Given the description of an element on the screen output the (x, y) to click on. 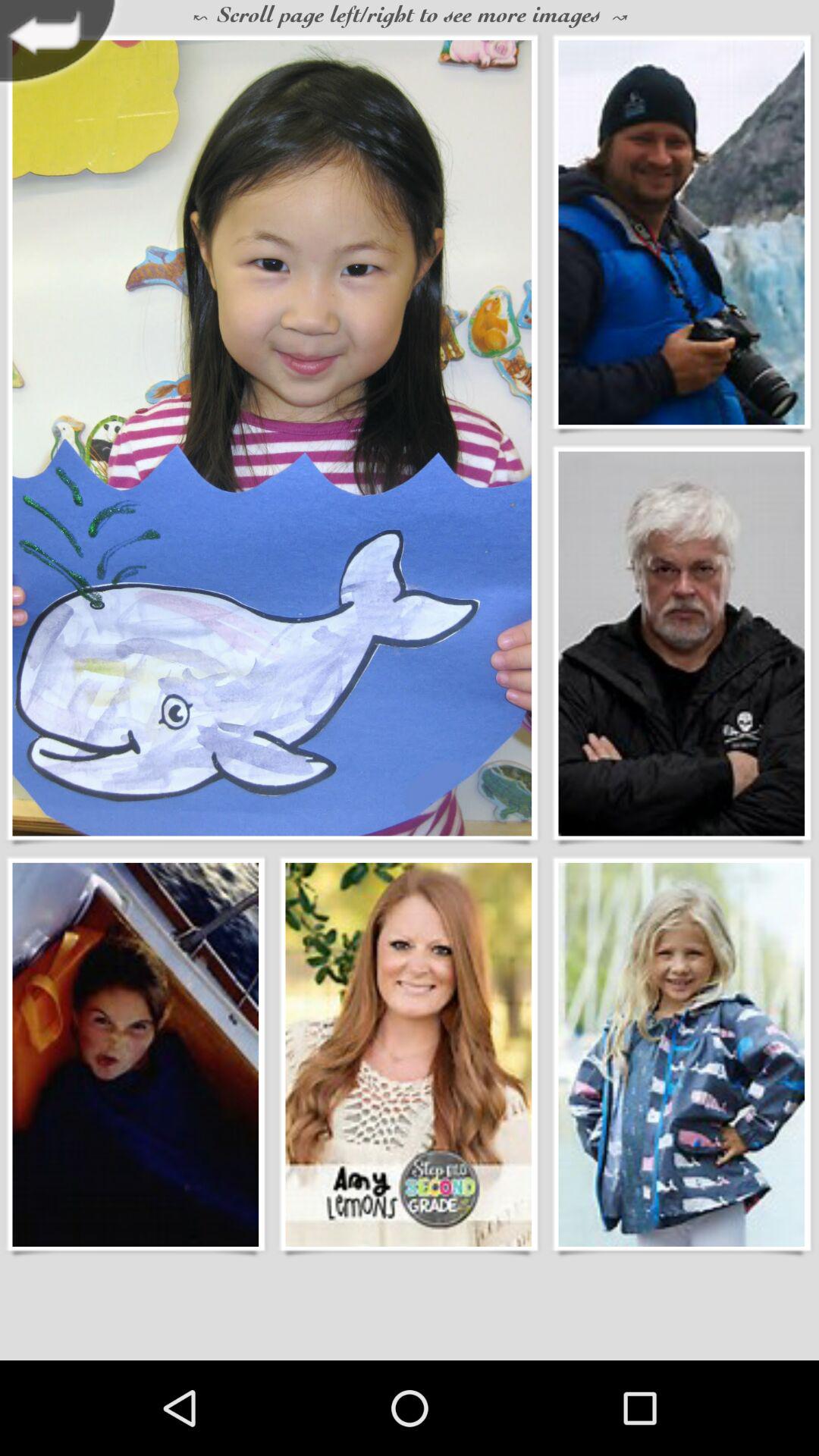
select person (681, 232)
